Given the description of an element on the screen output the (x, y) to click on. 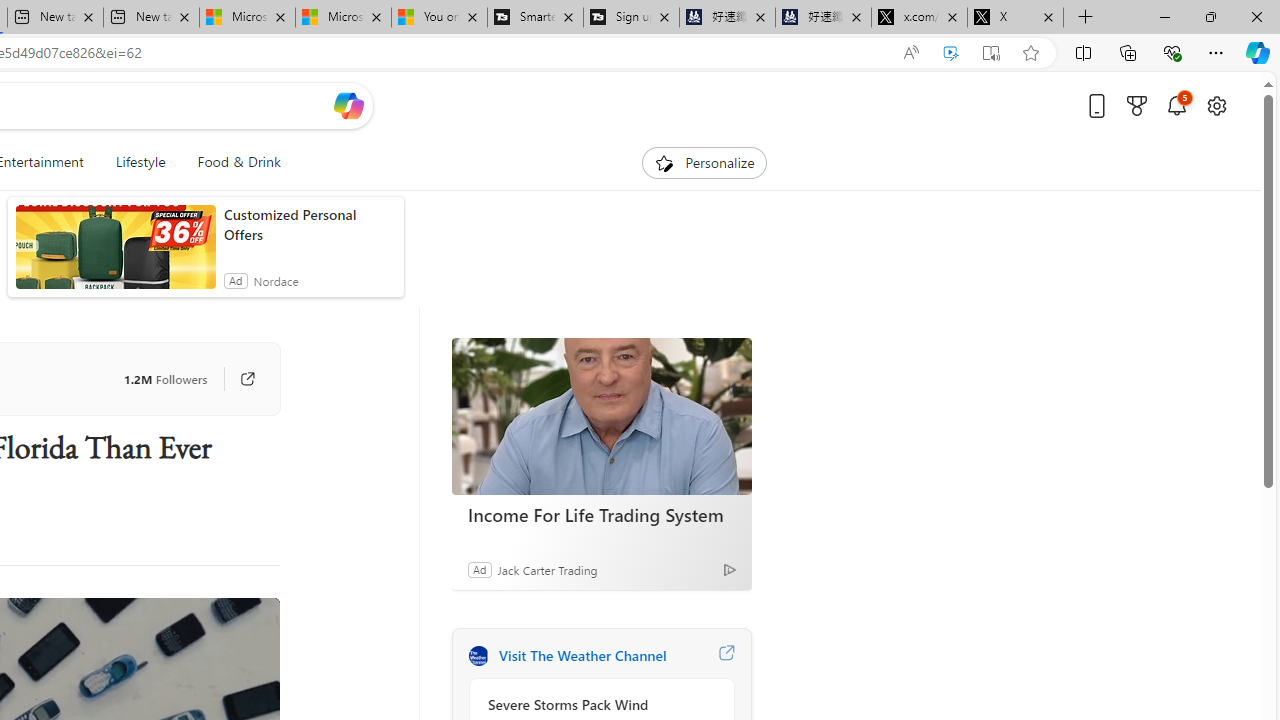
To get missing image descriptions, open the context menu. (664, 162)
Smarter Living | T3 (534, 17)
Customized Personal Offers (308, 224)
Enhance video (950, 53)
Microsoft Start (342, 17)
Lifestyle (140, 162)
Ad Choice (729, 569)
Open settings (1216, 105)
The Weather Channel (478, 655)
Go to publisher's site (237, 378)
